Given the description of an element on the screen output the (x, y) to click on. 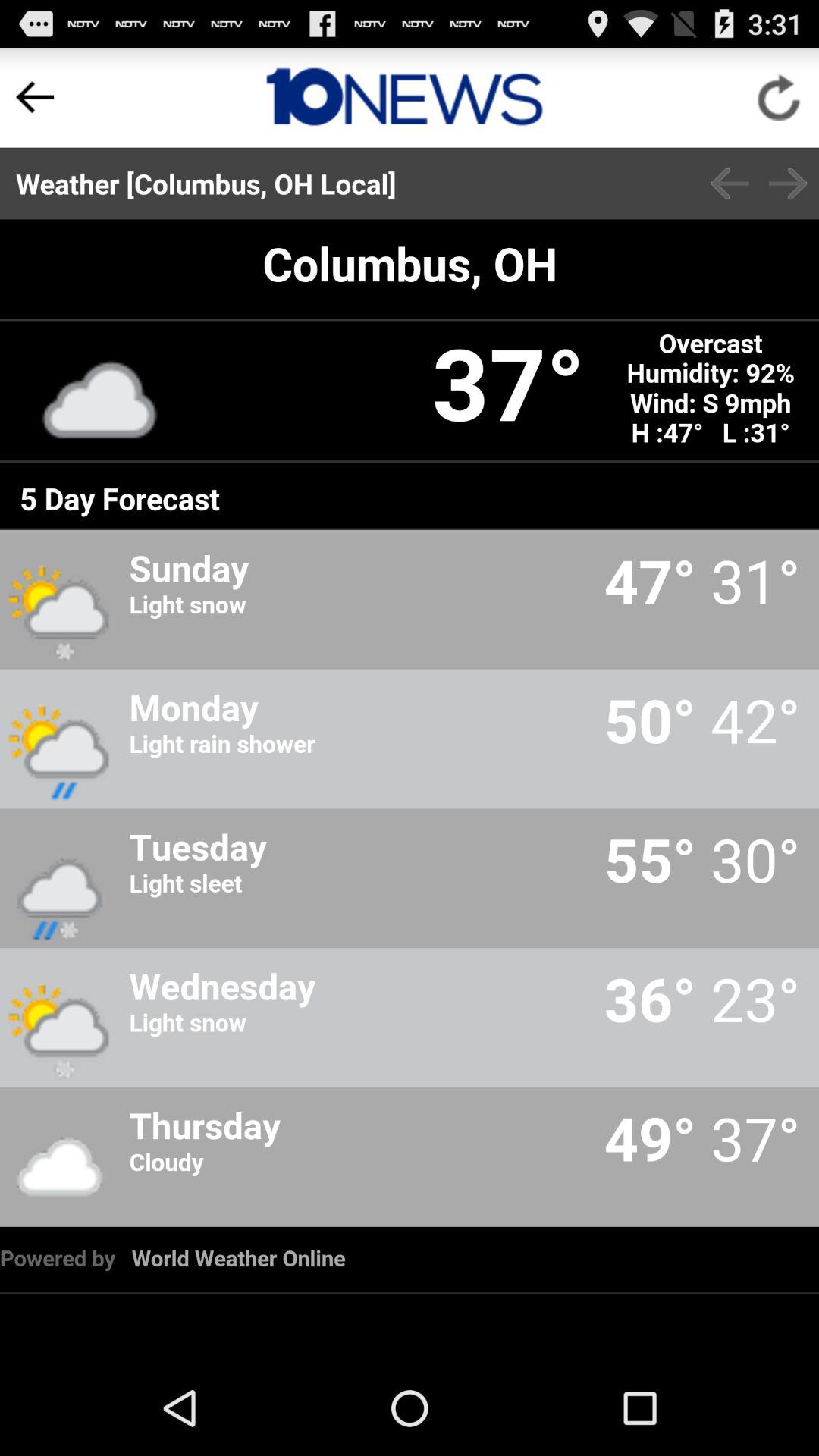
to go forward page (787, 183)
